Given the description of an element on the screen output the (x, y) to click on. 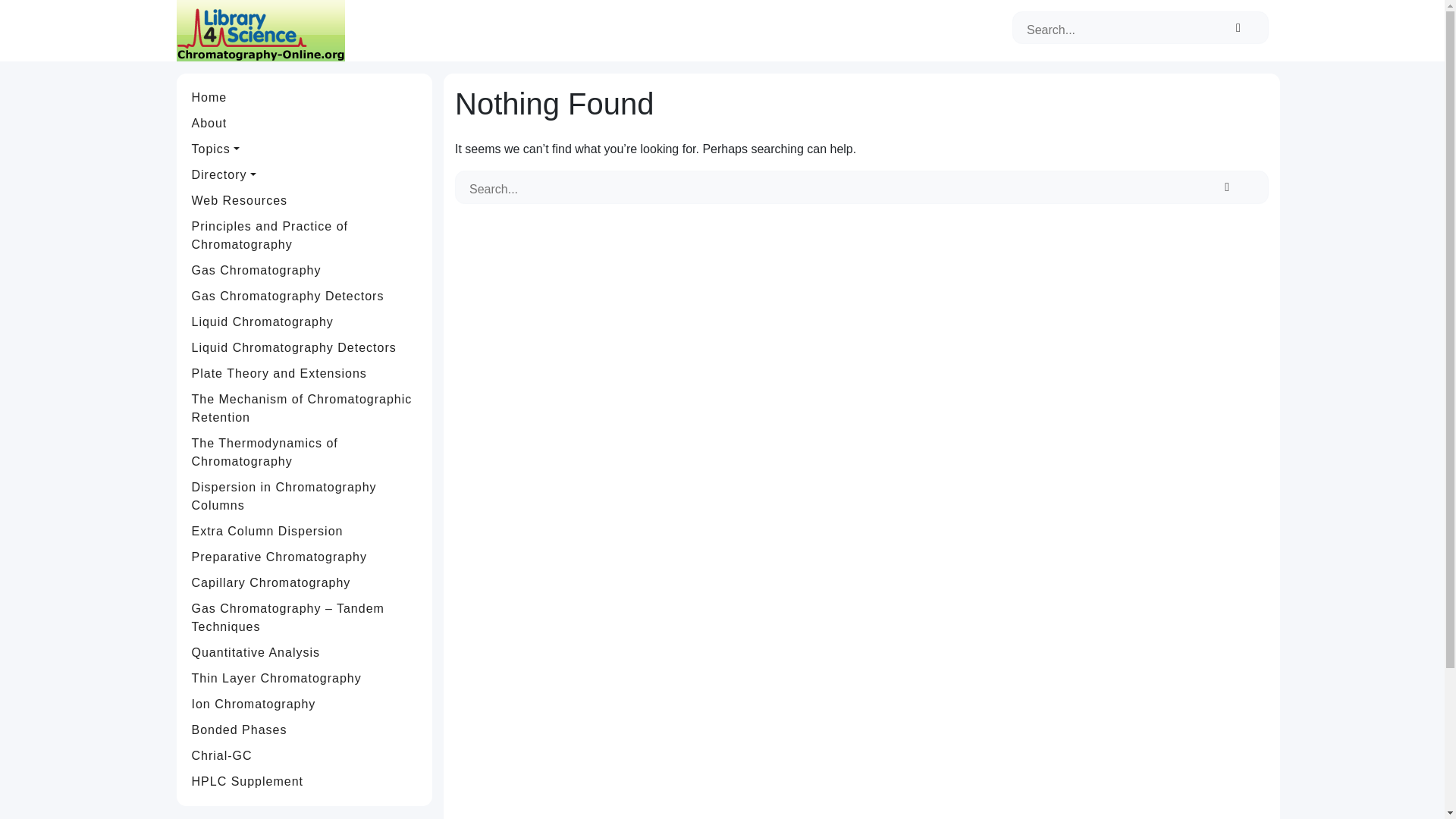
Principles and Practice of Chromatography (304, 235)
Web Resources (304, 200)
Ion Chromatography (304, 704)
Gas Chromatography (304, 270)
Liquid Chromatography (304, 321)
Plate Theory and Extensions (304, 373)
Topics (304, 149)
Bonded Phases (304, 729)
Quantitative Analysis (304, 652)
Gas Chromatography Detectors (304, 296)
